Given the description of an element on the screen output the (x, y) to click on. 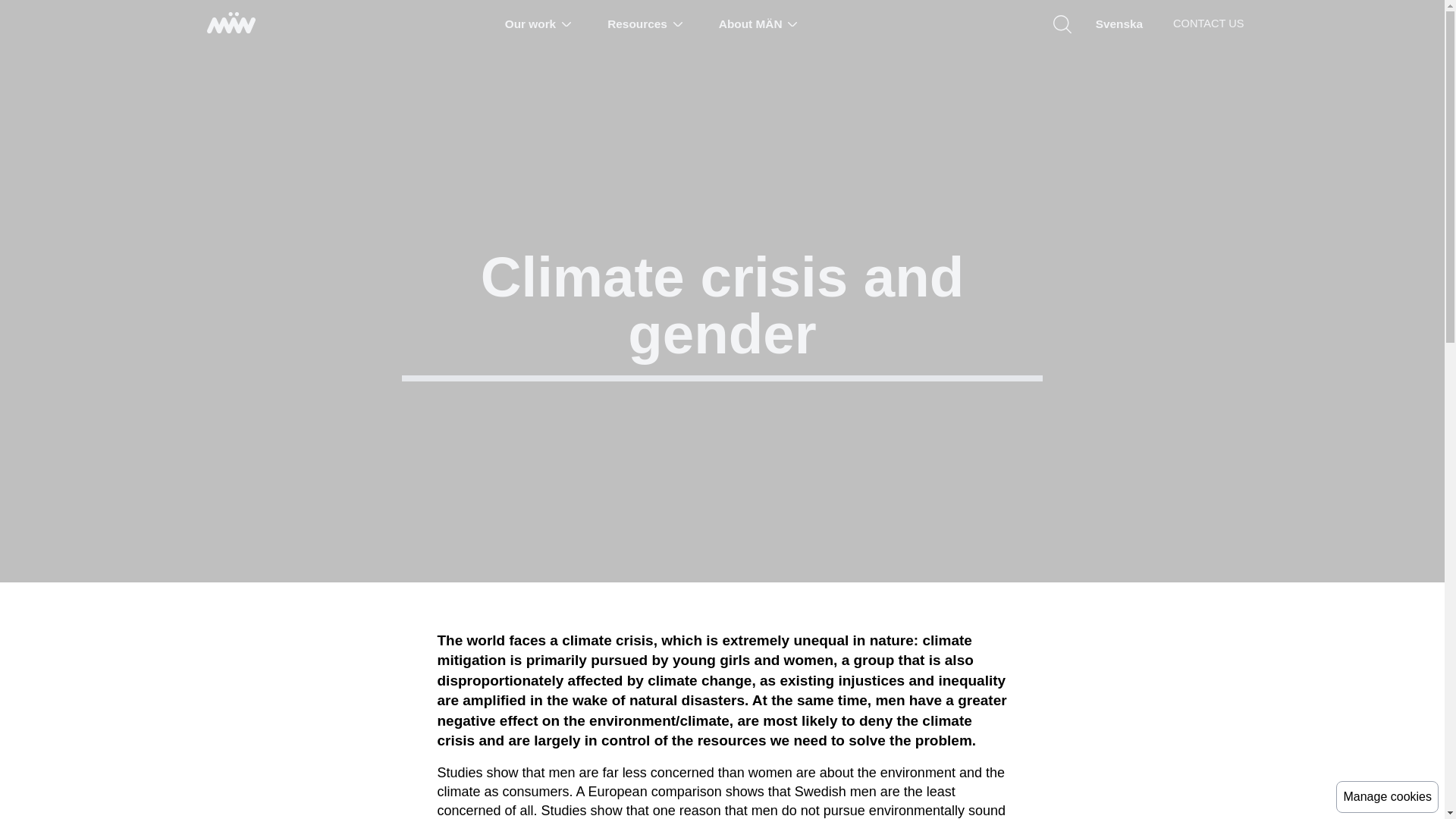
Resources (644, 24)
Our work (538, 24)
Manage cookies (1387, 797)
